Given the description of an element on the screen output the (x, y) to click on. 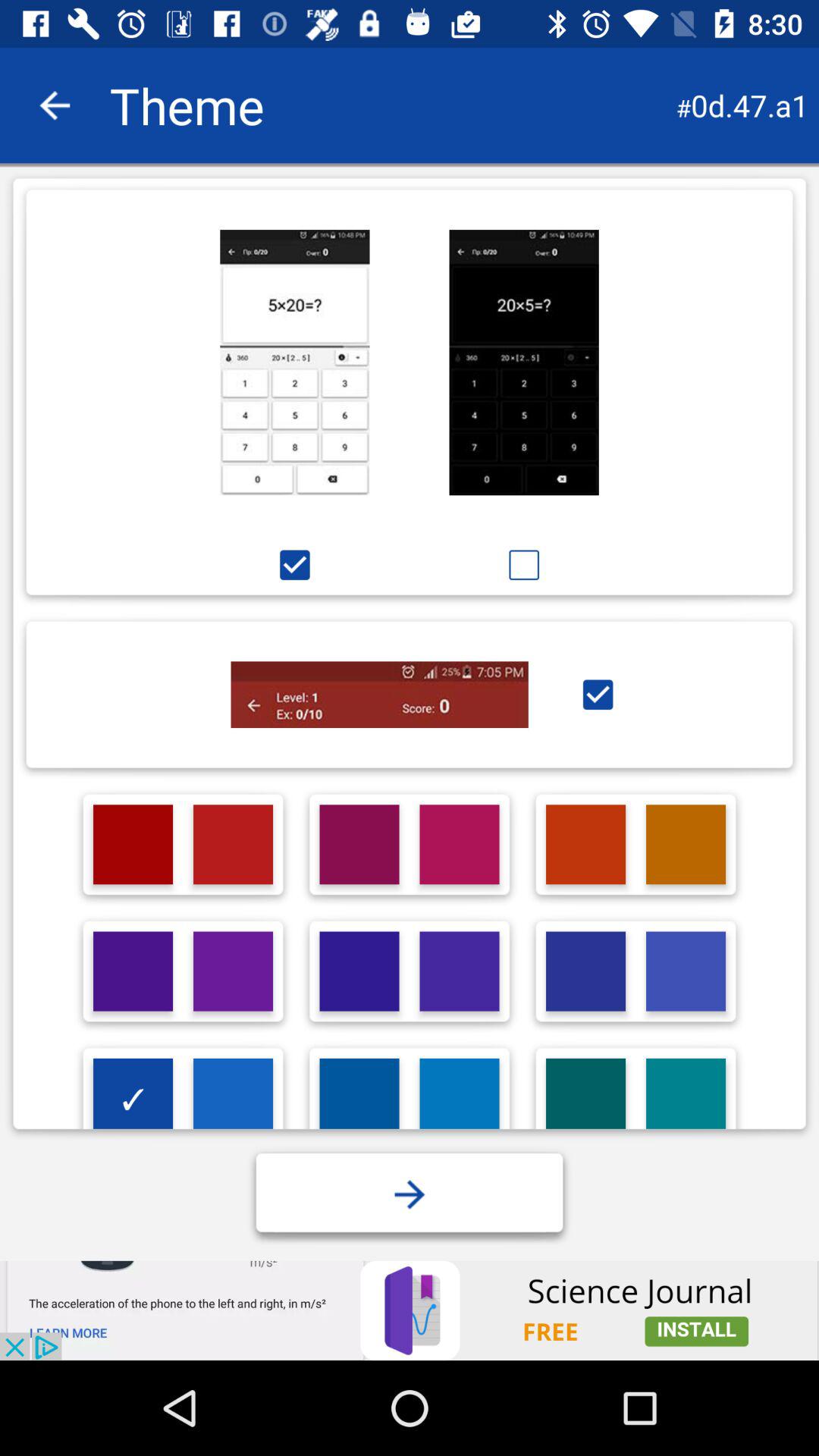
click on theme (685, 844)
